Given the description of an element on the screen output the (x, y) to click on. 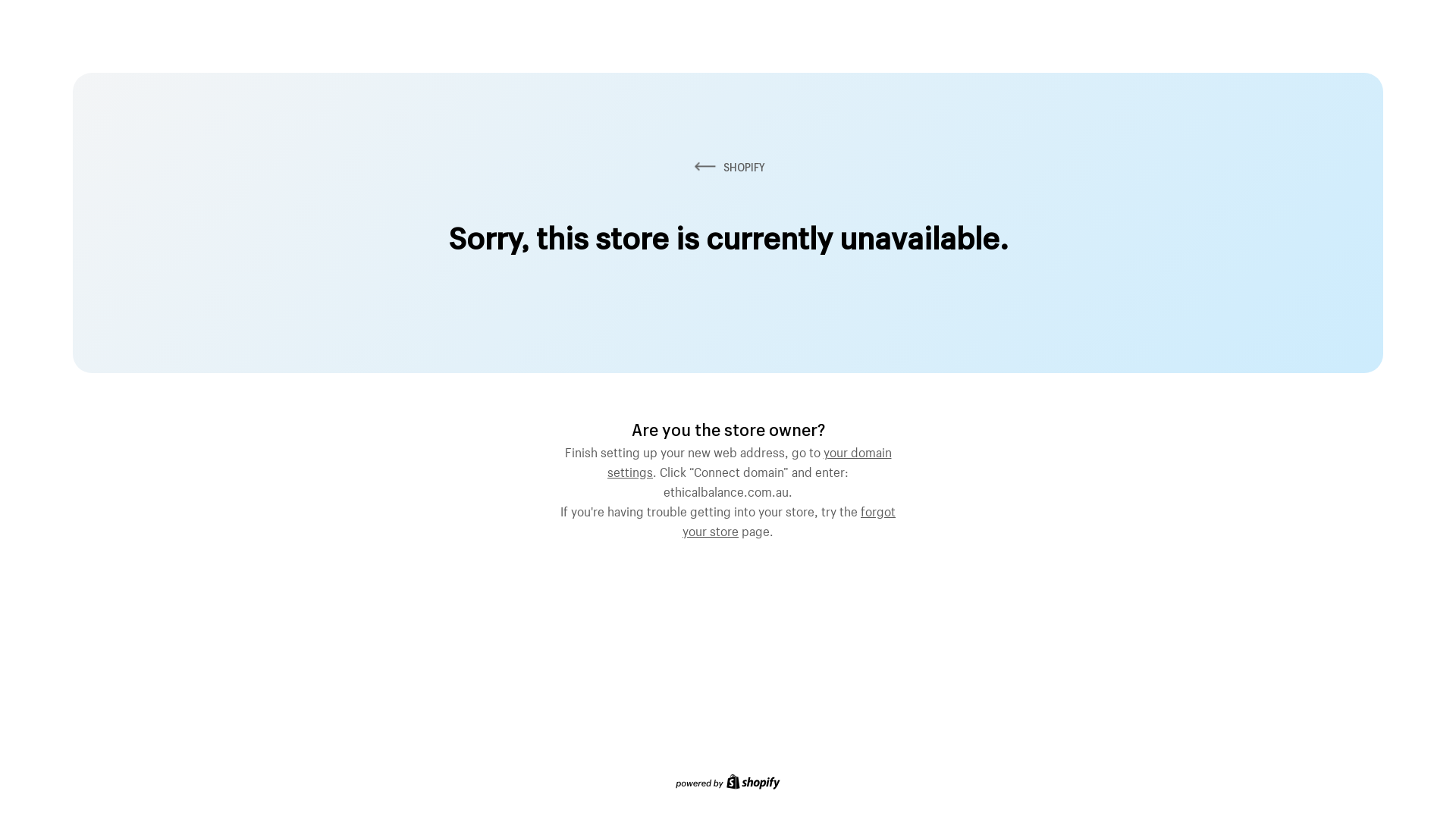
forgot your store Element type: text (788, 519)
your domain settings Element type: text (749, 460)
SHOPIFY Element type: text (727, 167)
